Given the description of an element on the screen output the (x, y) to click on. 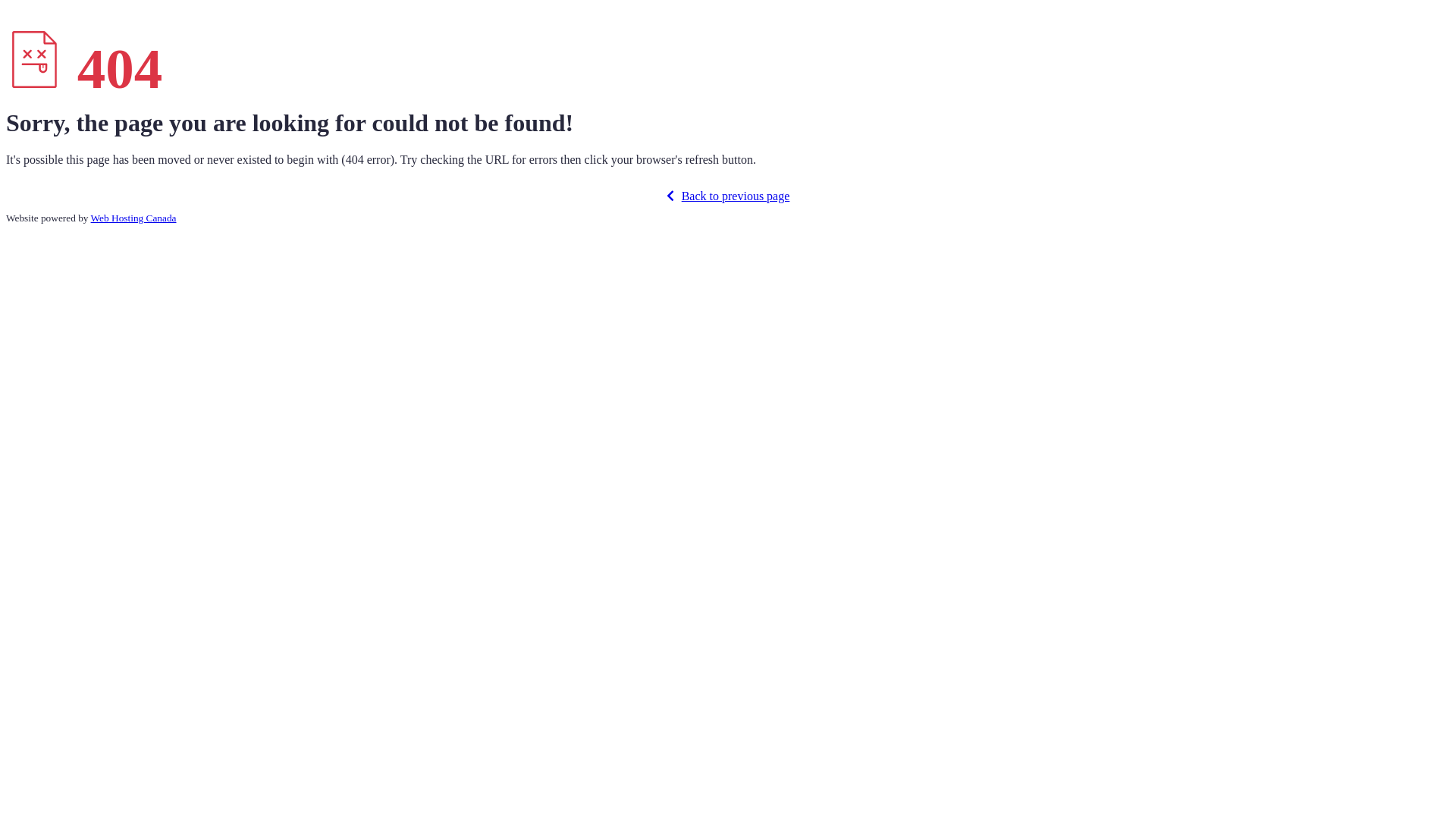
Web Hosting Canada Element type: text (133, 217)
Back to previous page Element type: text (728, 196)
